Given the description of an element on the screen output the (x, y) to click on. 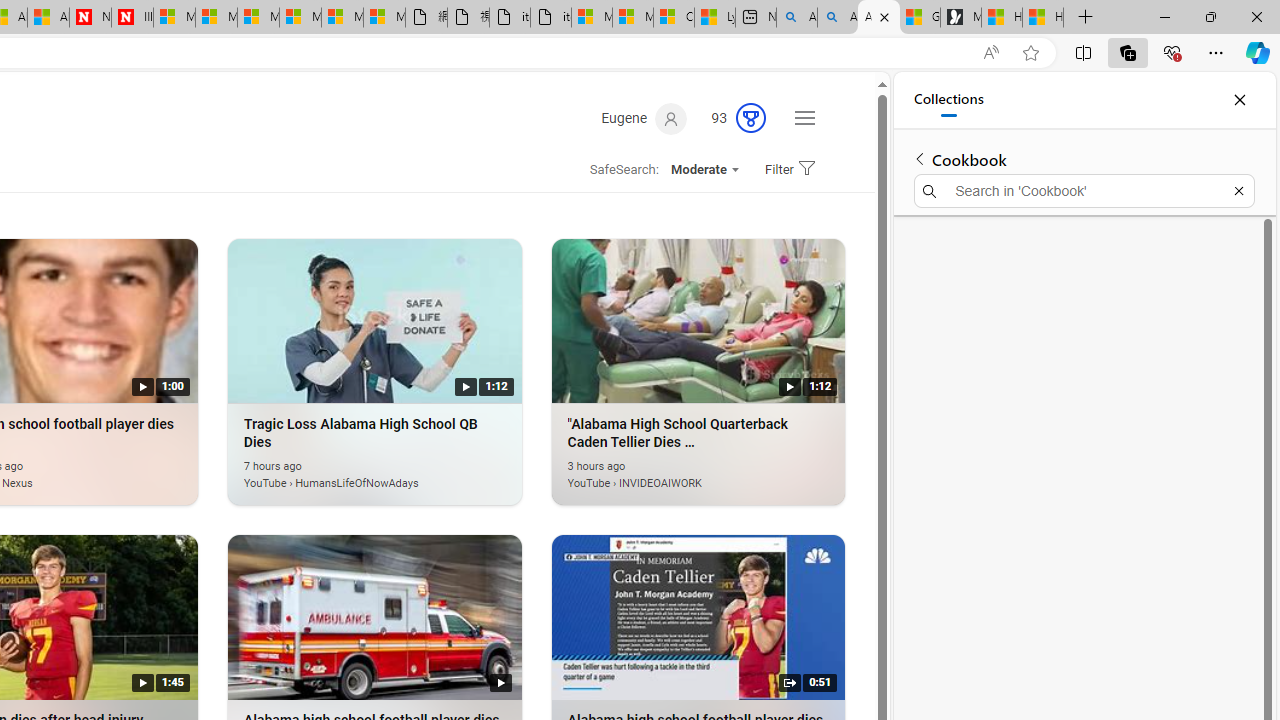
Settings and quick links (804, 117)
Moderate (704, 169)
Alabama high school quarterback dies - Search Videos (878, 17)
Consumer Health Data Privacy Policy (673, 17)
Moderate SafeSearch: (704, 169)
